Given the description of an element on the screen output the (x, y) to click on. 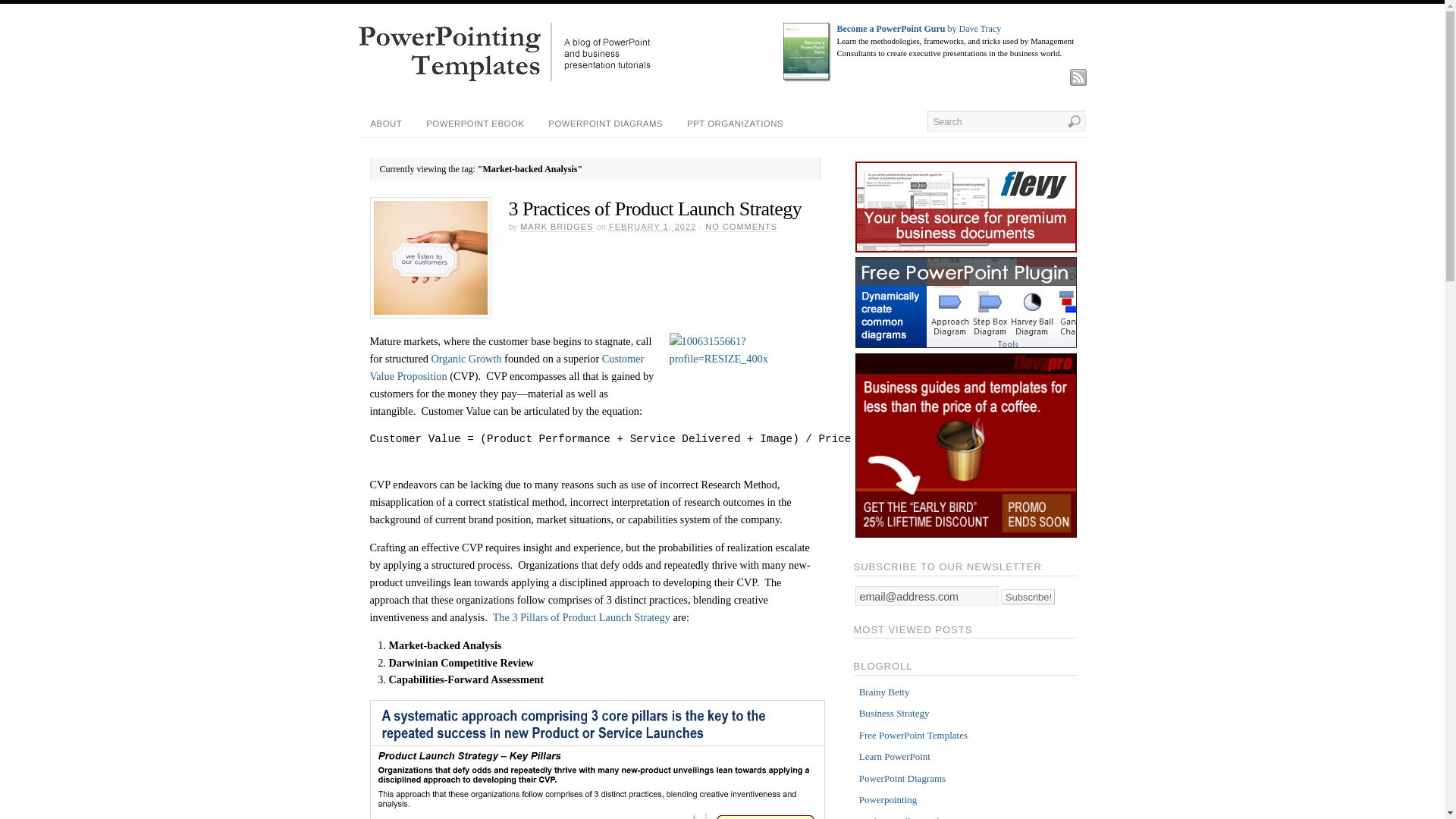
2022-02-01 (651, 225)
Subscribe! (1027, 596)
Powerpointing Templates Home (503, 78)
powerpoint plugin (966, 344)
POWERPOINT EBOOK (474, 123)
Organic Growth (465, 358)
PPT ORGANIZATIONS (734, 123)
View Comments (740, 226)
Search (1005, 120)
MARK BRIDGES (555, 226)
Customer Value Proposition (507, 367)
NO COMMENTS (740, 226)
Become a PowerPoint Guru by Dave Tracy (919, 28)
Search (1005, 120)
POWERPOINT DIAGRAMS (605, 123)
